Given the description of an element on the screen output the (x, y) to click on. 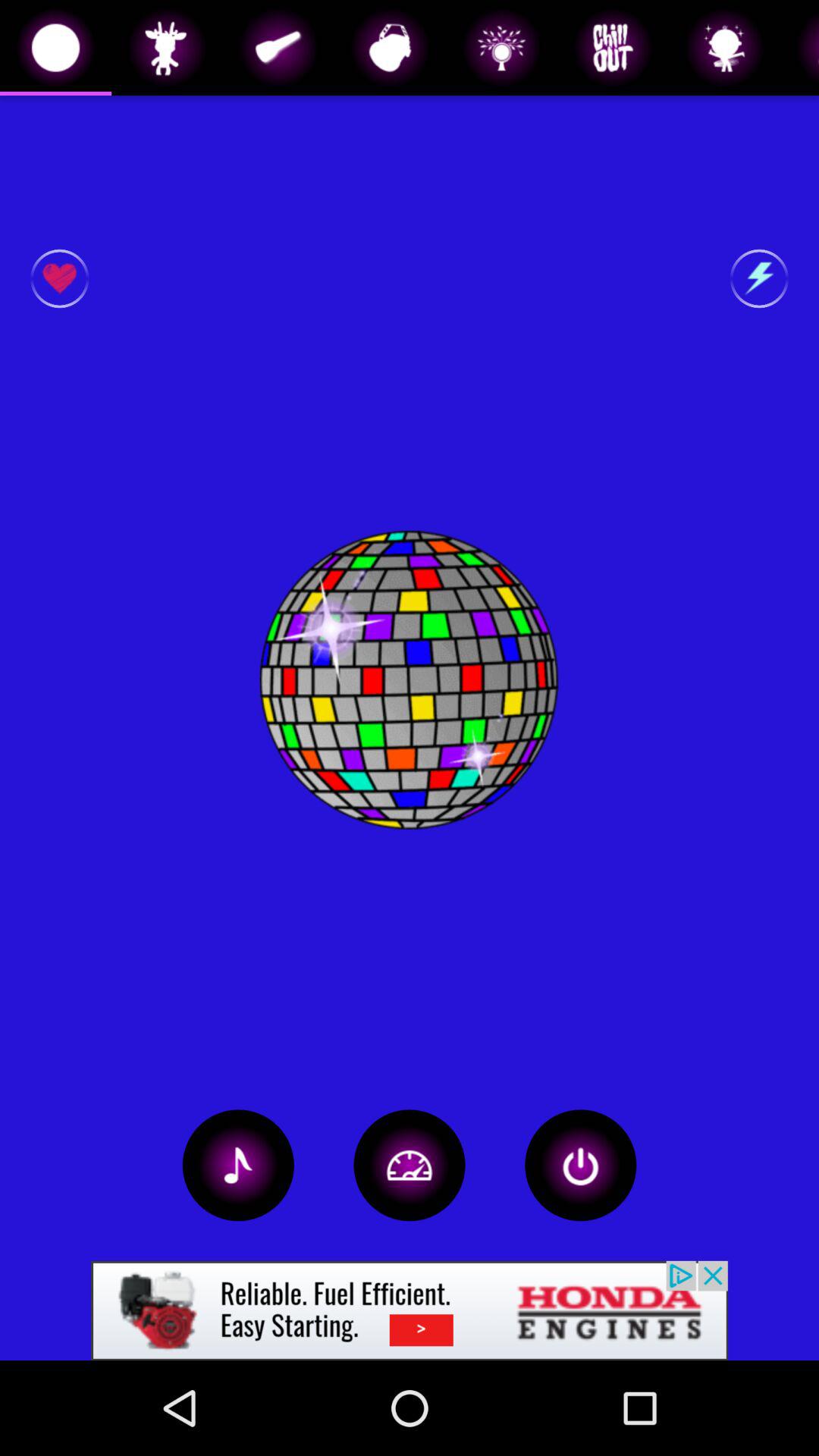
turn color lights off (580, 1165)
